Given the description of an element on the screen output the (x, y) to click on. 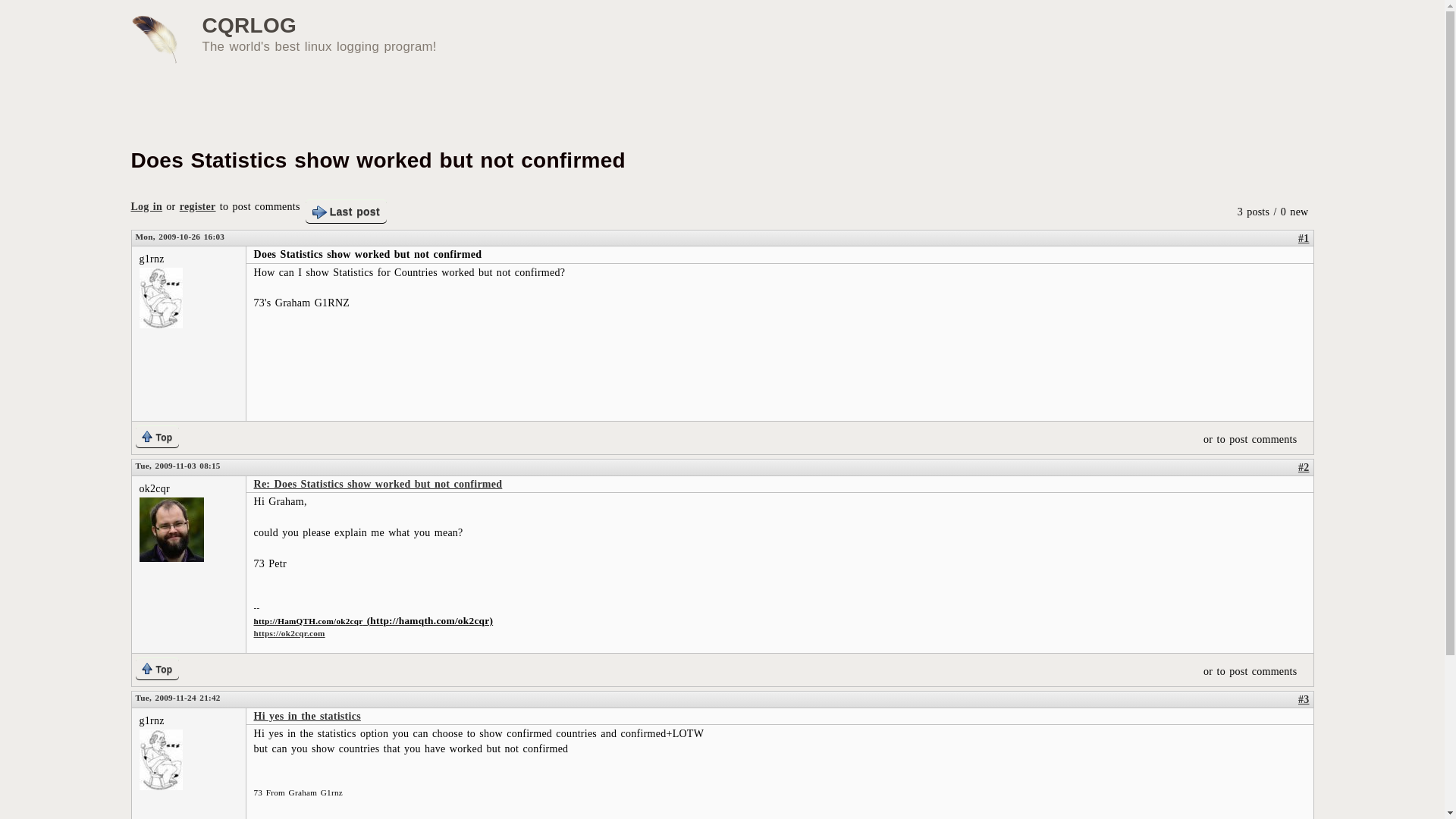
Re: Does Statistics show worked but not confirmed (377, 483)
CQRLOG (248, 24)
Top (157, 668)
Log in (146, 206)
Last post (346, 210)
Jump to top of page (157, 668)
Top (157, 436)
Home page (248, 24)
register (197, 206)
Jump to top of page (157, 436)
ok2cqr's picture (171, 529)
Hi yes in the statistics (306, 715)
